Given the description of an element on the screen output the (x, y) to click on. 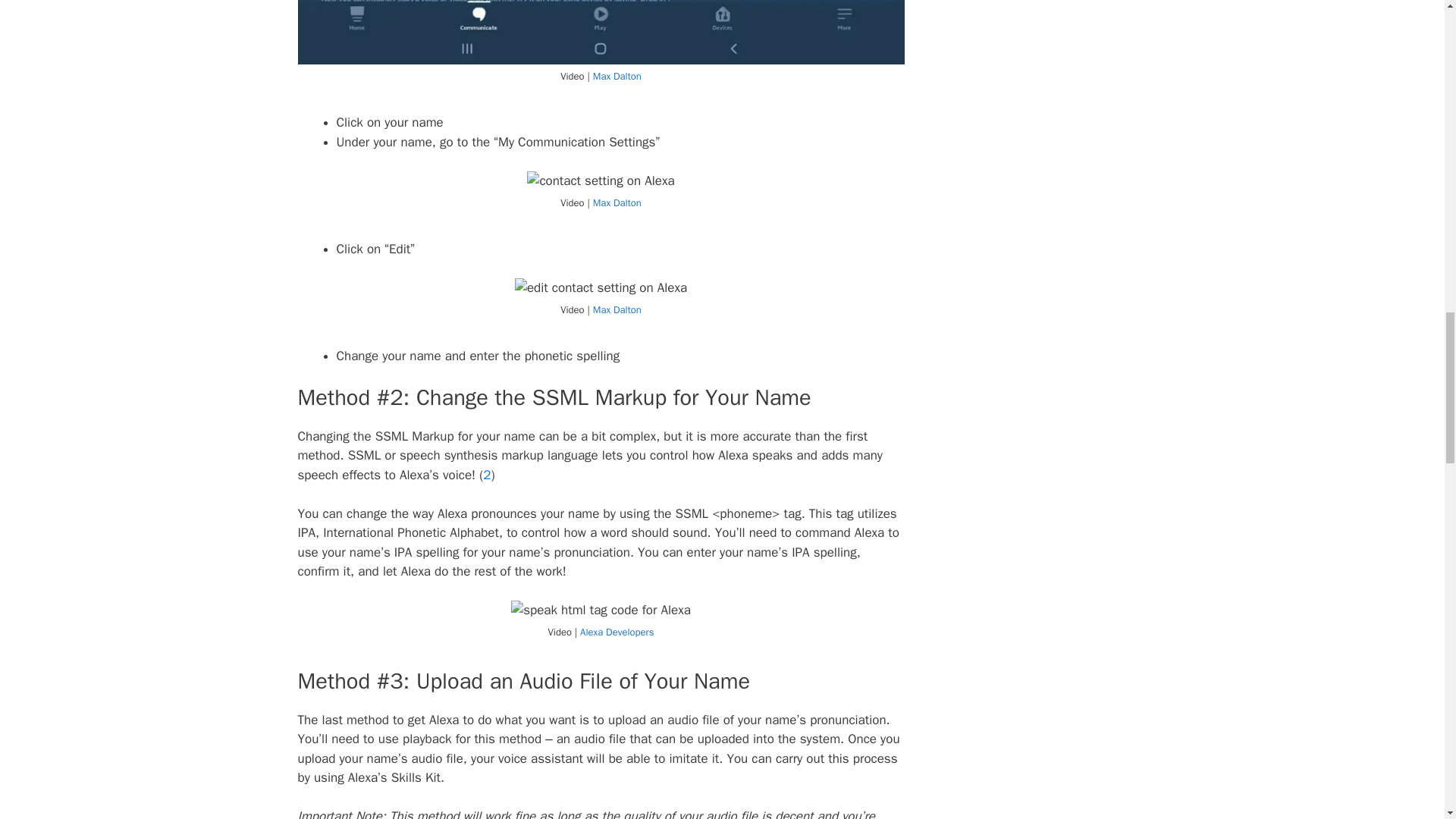
Max Dalton (617, 75)
Alexa Developers (616, 631)
Max Dalton (617, 202)
Max Dalton (617, 309)
